Given the description of an element on the screen output the (x, y) to click on. 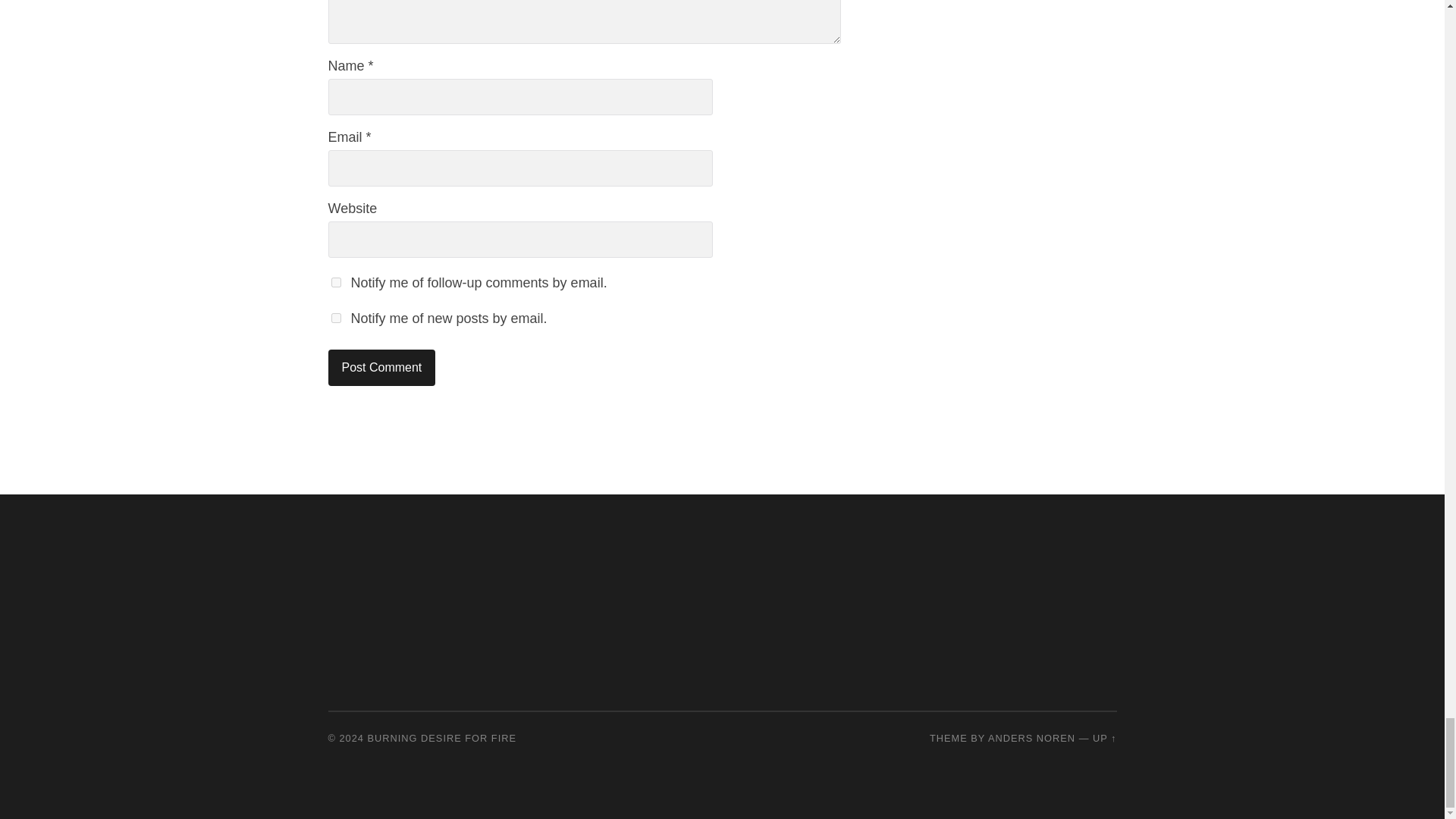
To the top (1104, 737)
subscribe (335, 317)
Post Comment (381, 367)
Post Comment (381, 367)
subscribe (335, 282)
